Given the description of an element on the screen output the (x, y) to click on. 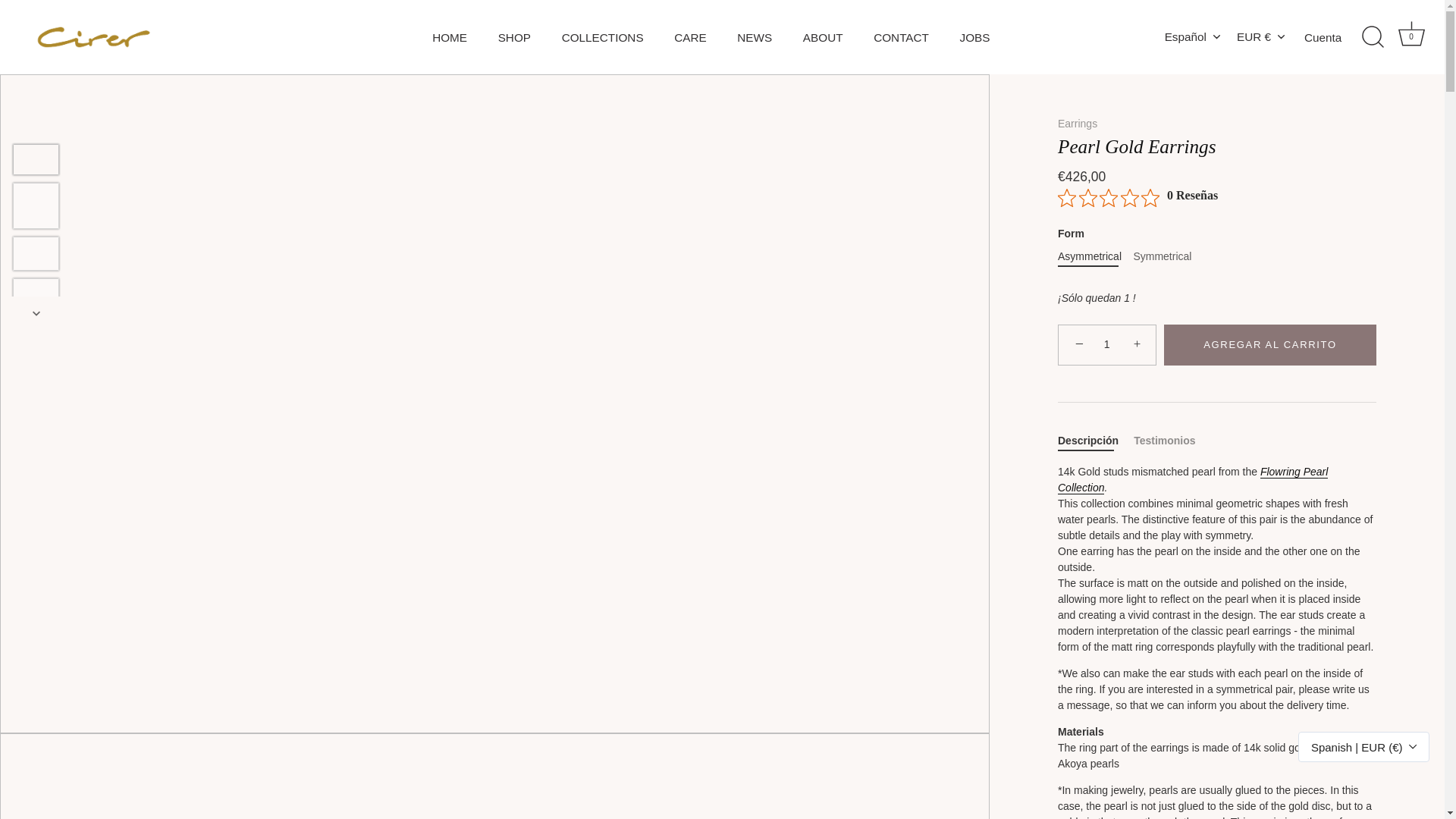
ABOUT (822, 36)
CONTACT (1411, 37)
Flowring Pearl Collection (901, 36)
JOBS (1192, 480)
Cuenta (974, 36)
HOME (1336, 37)
NEWS (450, 36)
CARE (754, 36)
SHOP (690, 36)
Cart (513, 36)
COLLECTIONS (1411, 33)
